Given the description of an element on the screen output the (x, y) to click on. 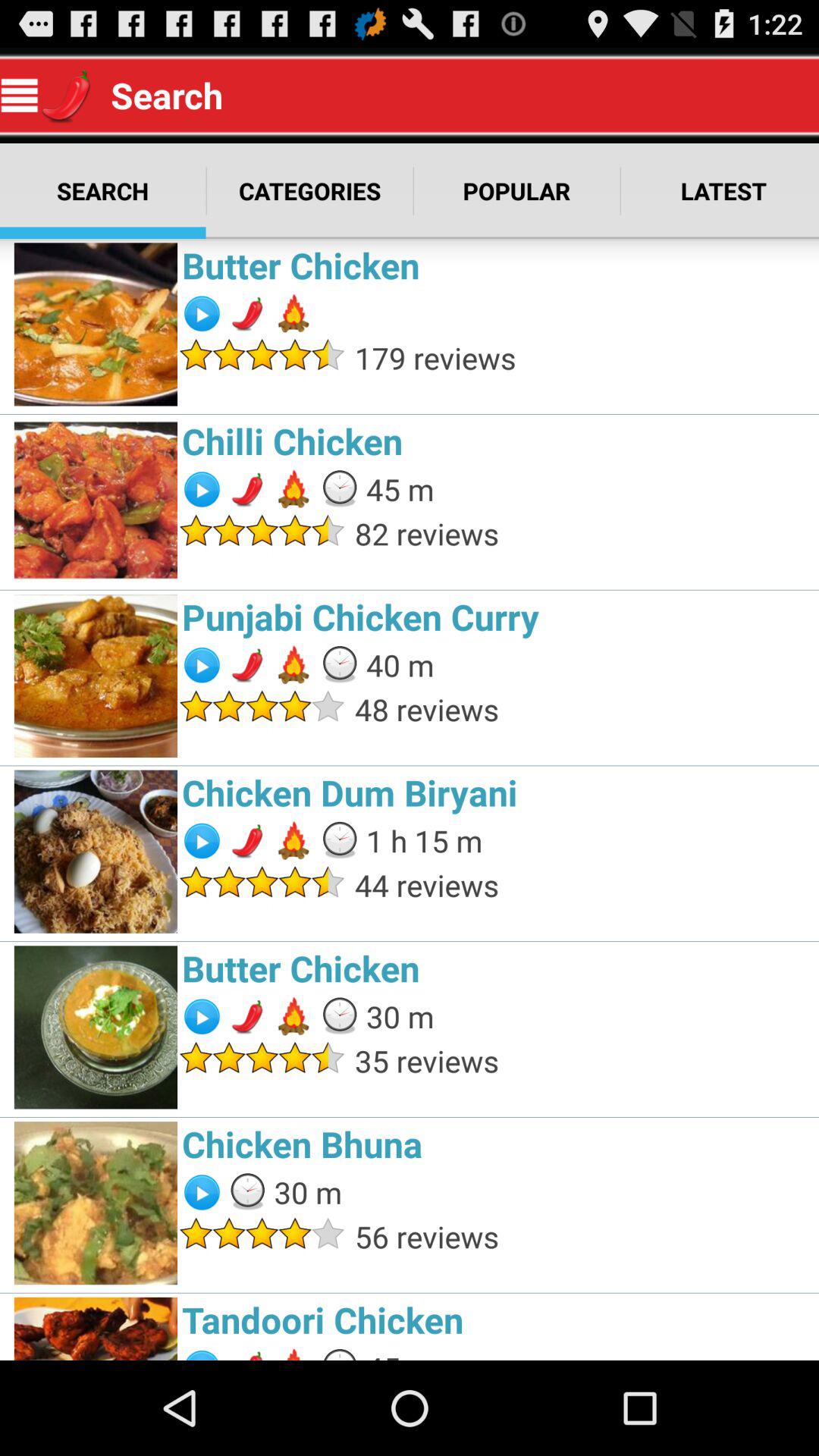
open 179 reviews item (582, 357)
